Given the description of an element on the screen output the (x, y) to click on. 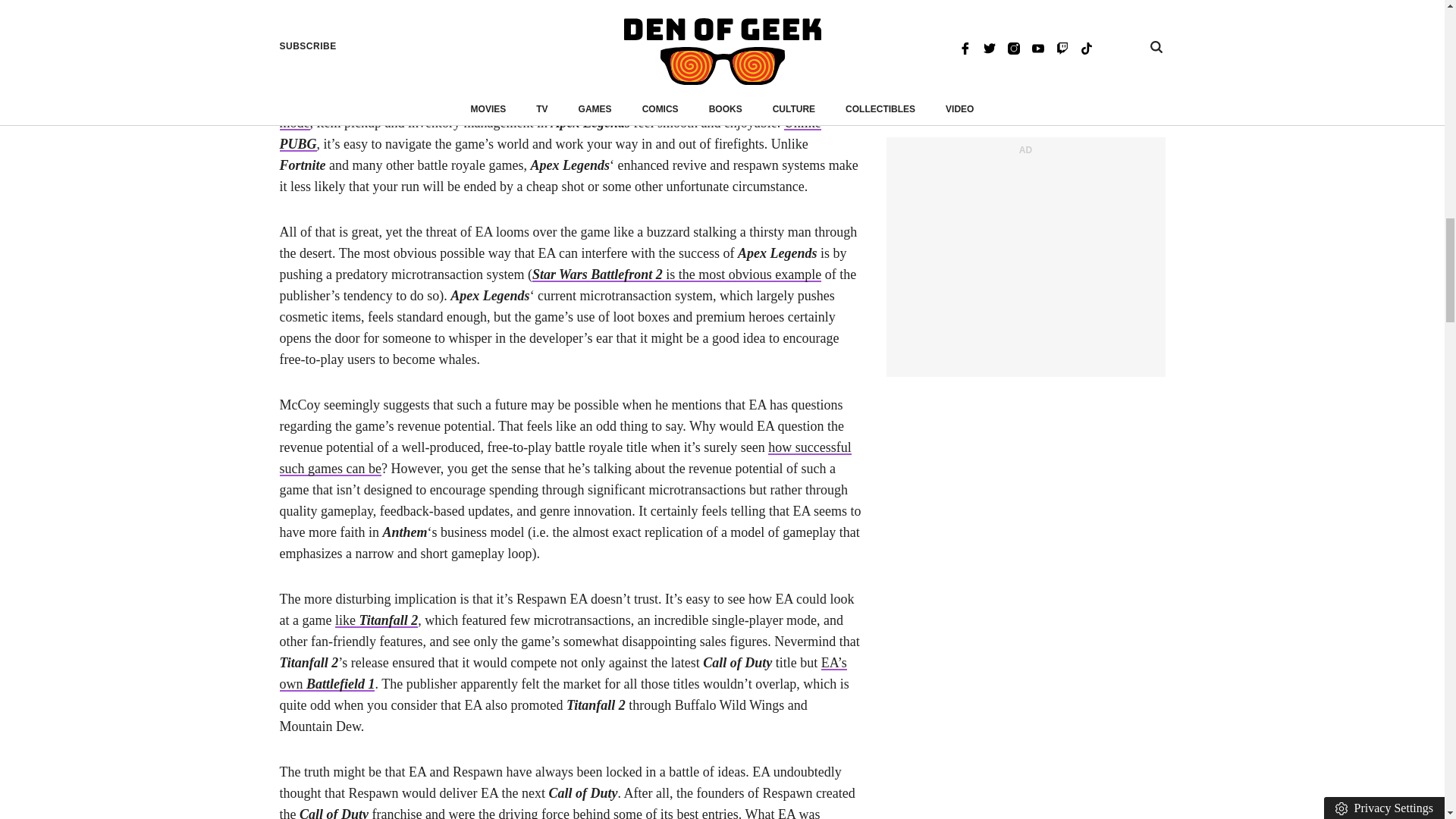
Blackout: The Best Call of Duty Update Since Modern Warfare (555, 112)
address some of the biggest problems in battle royale games (563, 90)
